Given the description of an element on the screen output the (x, y) to click on. 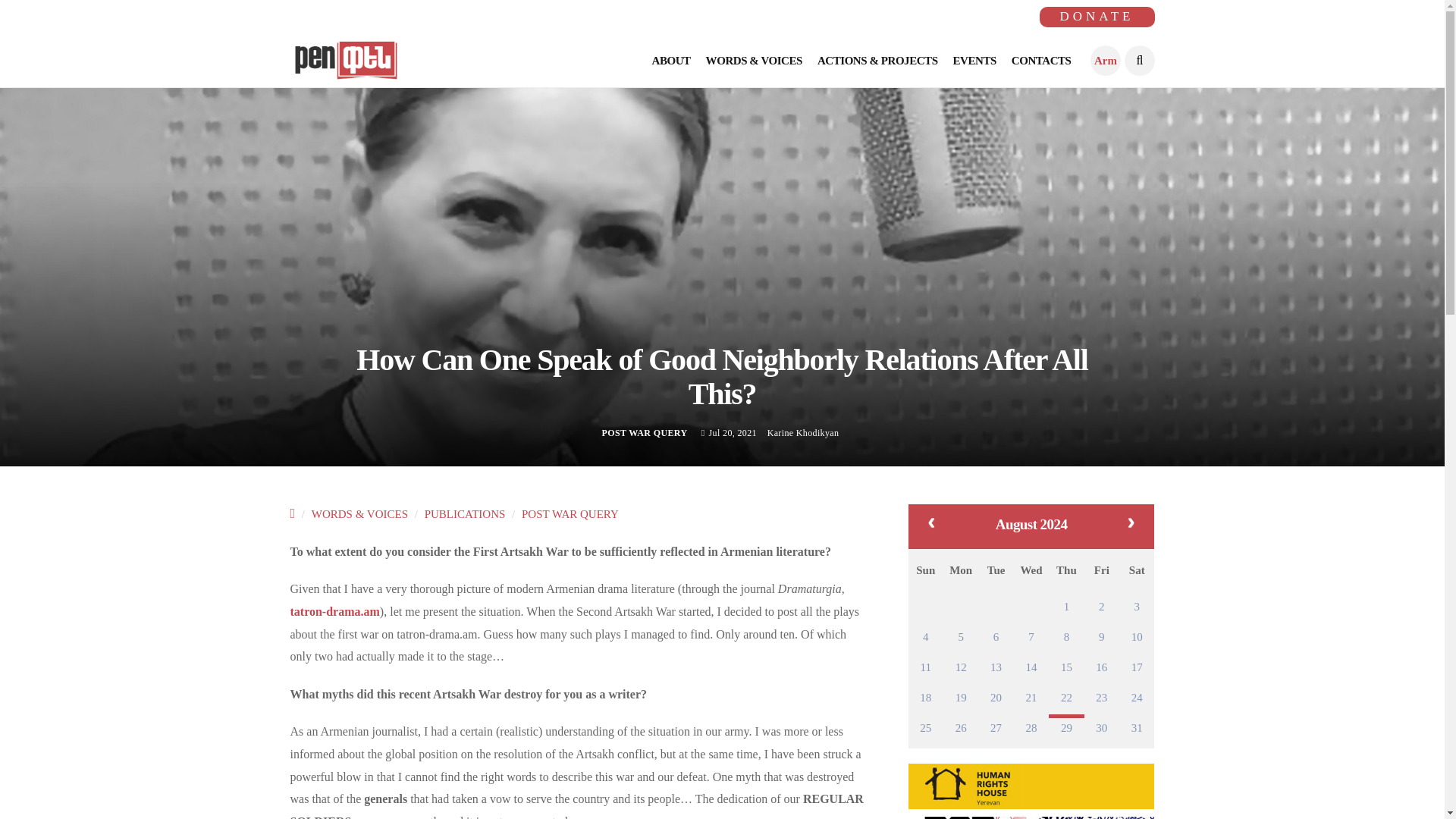
PUBLICATIONS (465, 513)
DONATE (1096, 16)
tatron-drama.am (333, 611)
POST WAR QUERY (644, 432)
CONTACTS (1041, 60)
Karine Khodikyan (803, 432)
Posts by Karine Khodikyan (803, 432)
tatron-drama.am (333, 611)
POST WAR QUERY (569, 513)
